Given the description of an element on the screen output the (x, y) to click on. 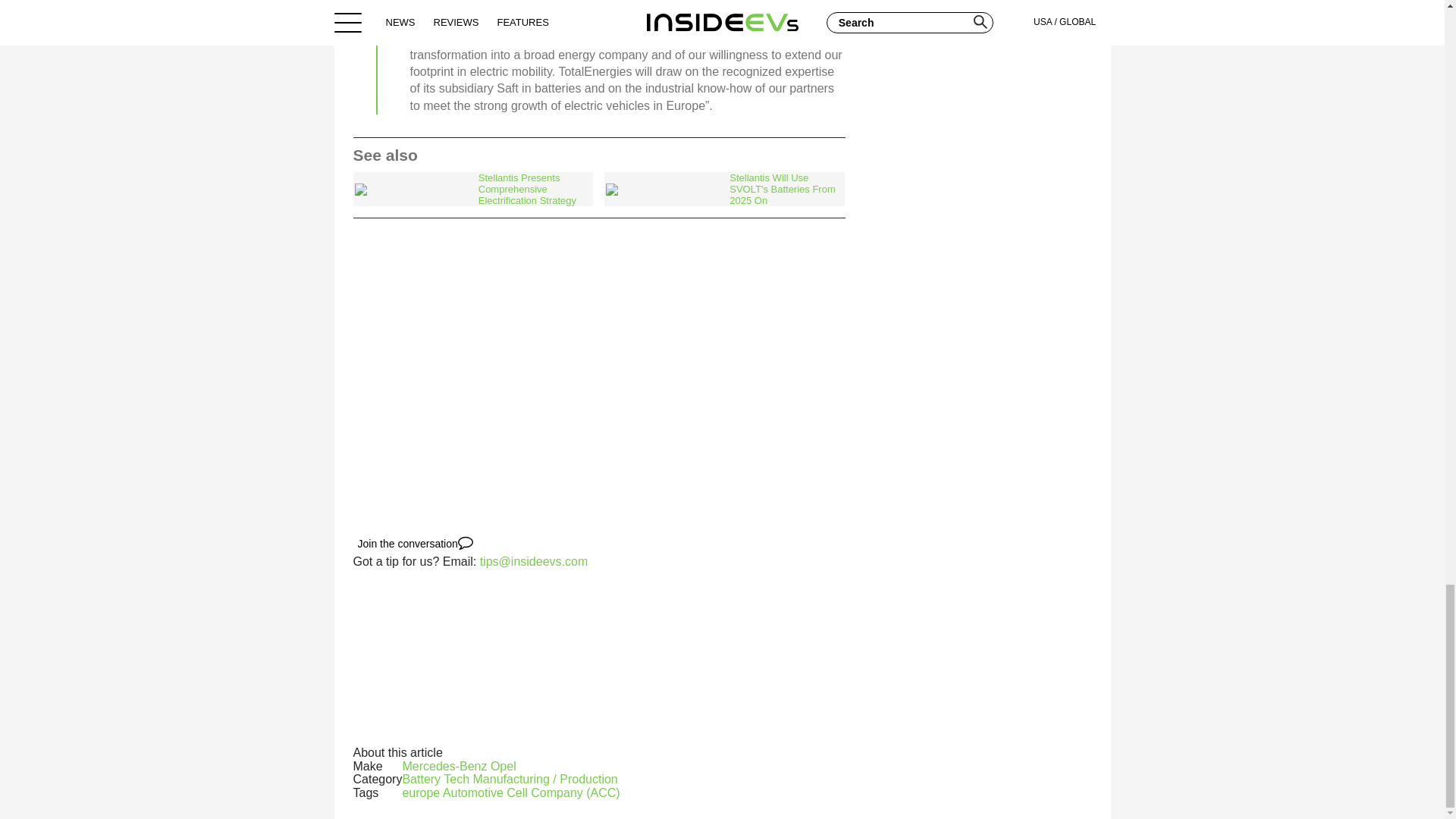
Stellantis Will Use SVOLT's Batteries From 2025 On (724, 188)
Join the conversation (415, 543)
Stellantis Presents Comprehensive Electrification Strategy (473, 188)
